Given the description of an element on the screen output the (x, y) to click on. 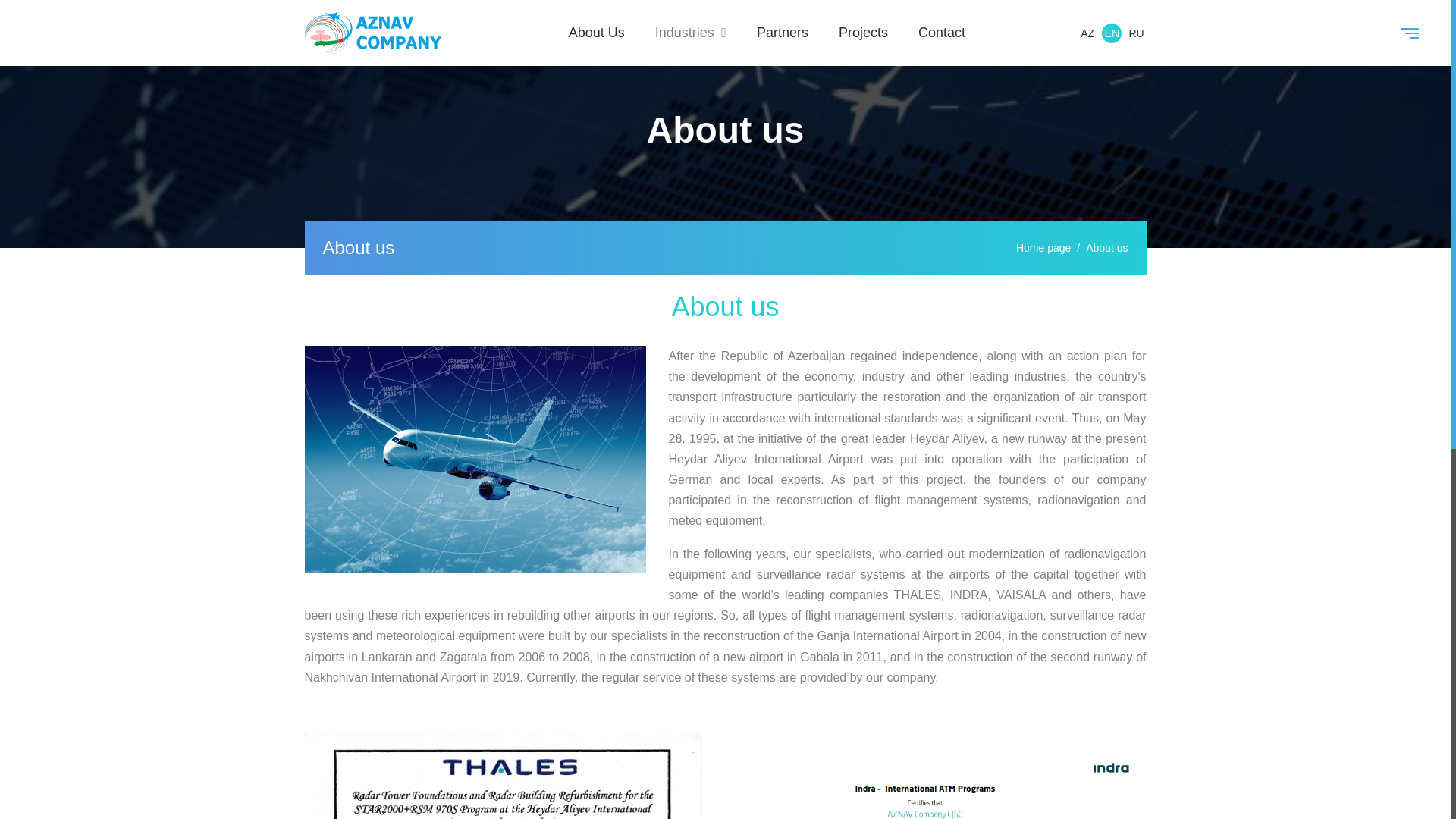
Partners (782, 32)
RU (1136, 33)
About Us (596, 32)
EN (1111, 33)
AZ (1087, 33)
Industries (690, 32)
Projects (863, 32)
Contact (941, 32)
